Given the description of an element on the screen output the (x, y) to click on. 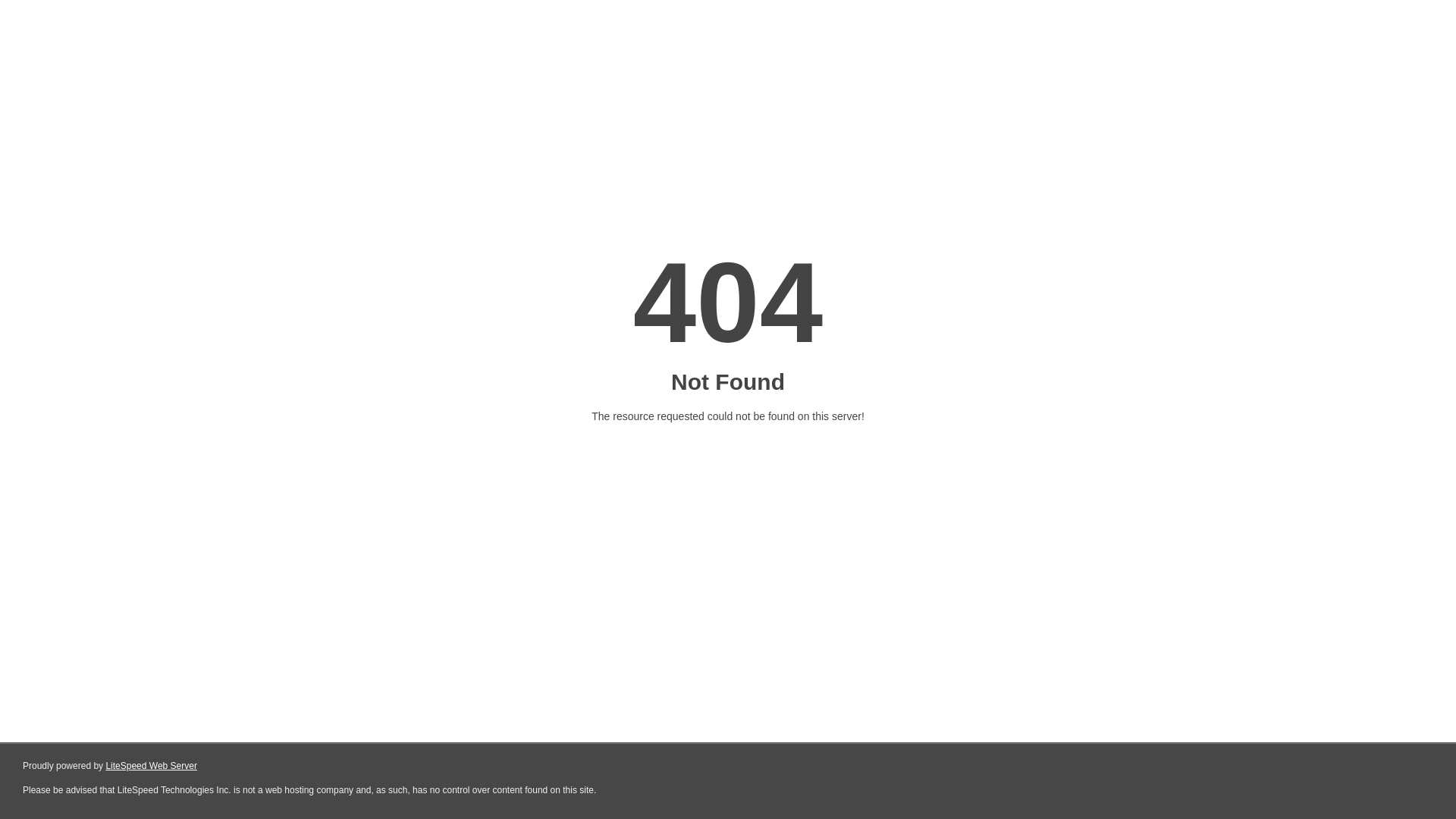
LiteSpeed Web Server Element type: text (151, 765)
